Given the description of an element on the screen output the (x, y) to click on. 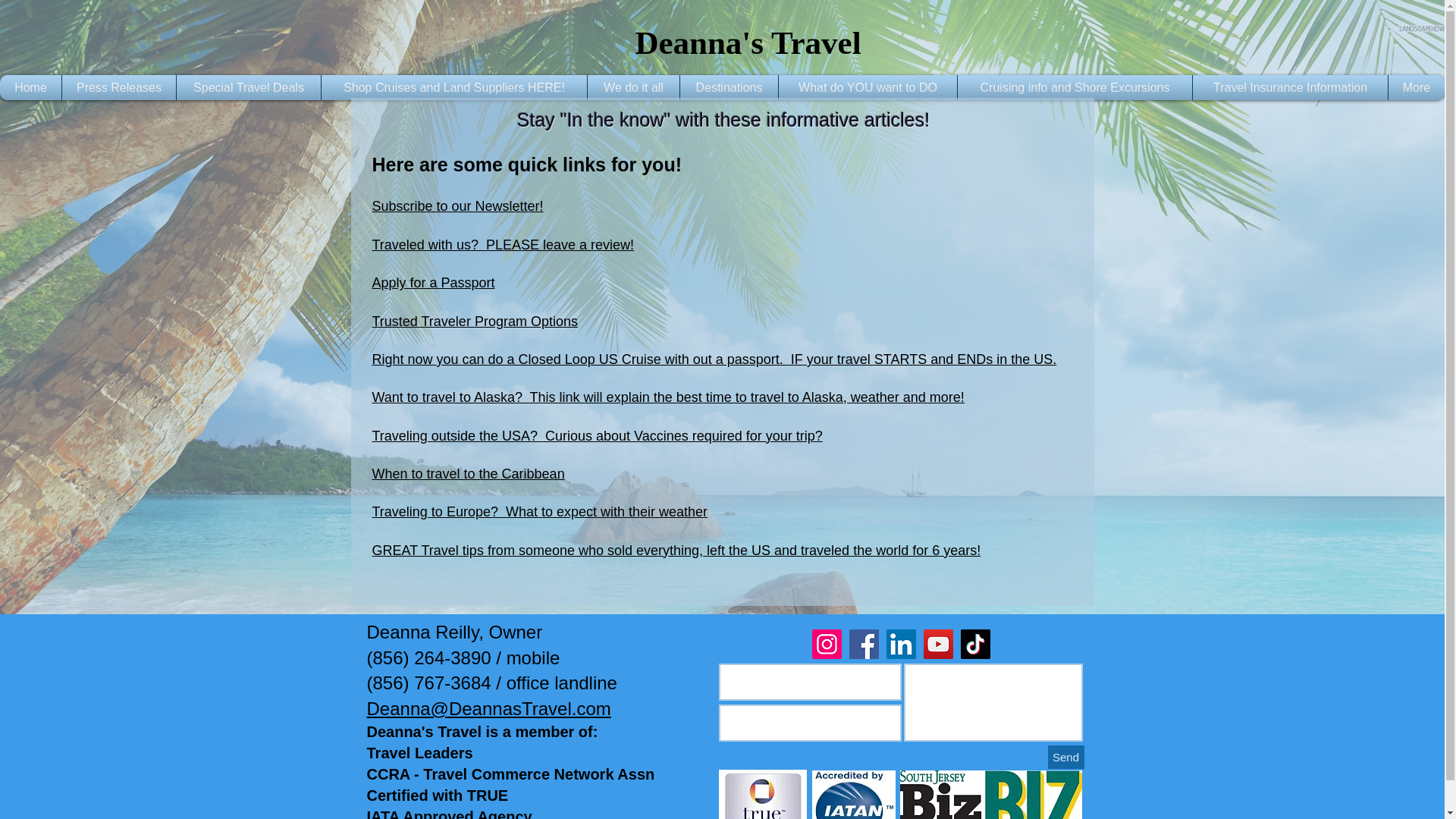
We do it all (633, 87)
Traveling to Europe?  What to expect with their weather (539, 511)
Home (31, 87)
Traveled with us?  PLEASE leave a review! (502, 244)
Special Travel Deals (248, 87)
Destinations (729, 87)
Travel Insurance Information (1290, 87)
When to travel to the Caribbean (467, 473)
Cruising info and Shore Excursions (1074, 87)
What do YOU want to DO (868, 87)
Shop Cruises and Land Suppliers HERE! (453, 87)
Subscribe to our Newsletter! (457, 206)
Here are some quick links for you! (526, 164)
